Given the description of an element on the screen output the (x, y) to click on. 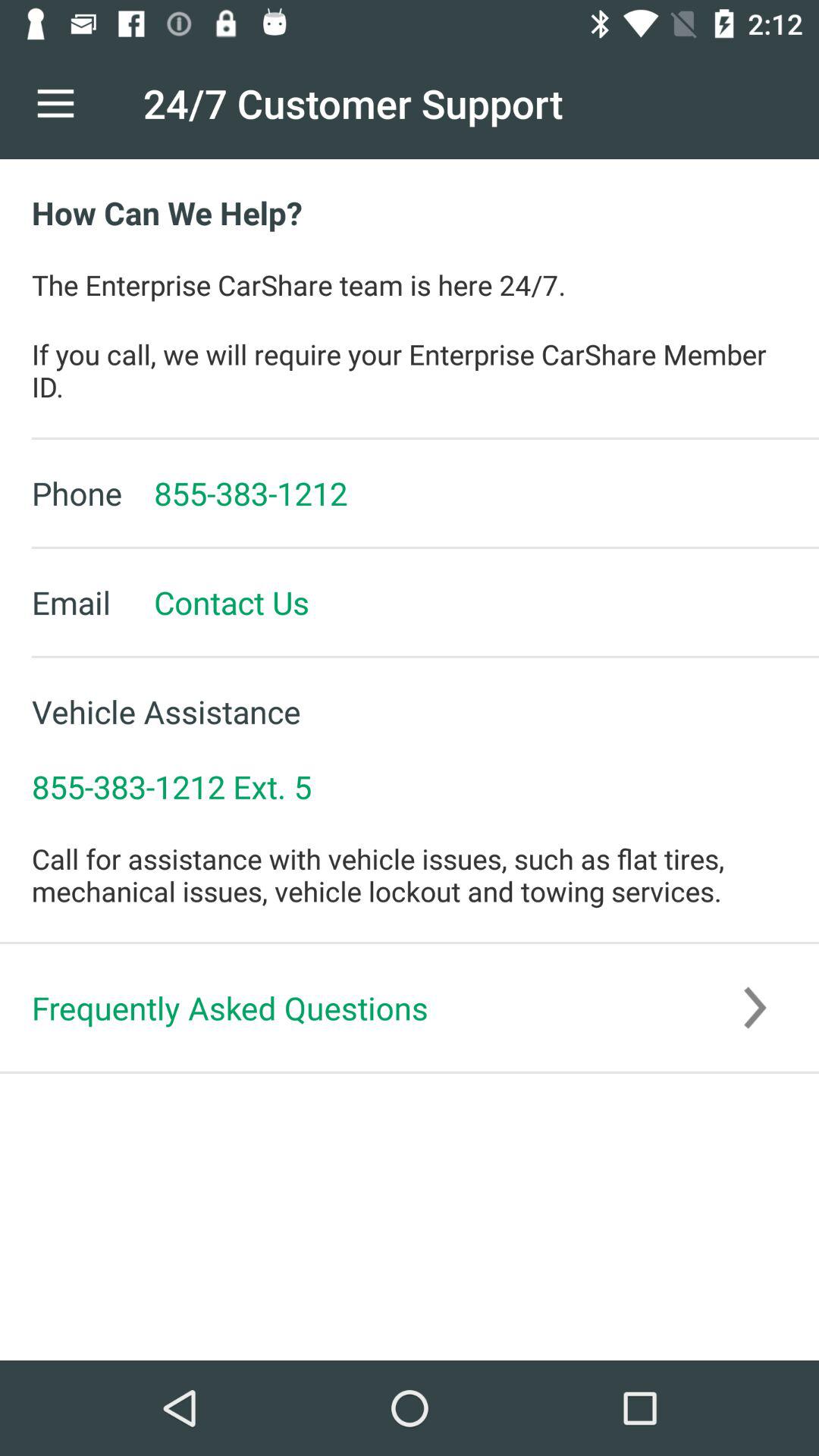
scroll until the contact us item (215, 601)
